Given the description of an element on the screen output the (x, y) to click on. 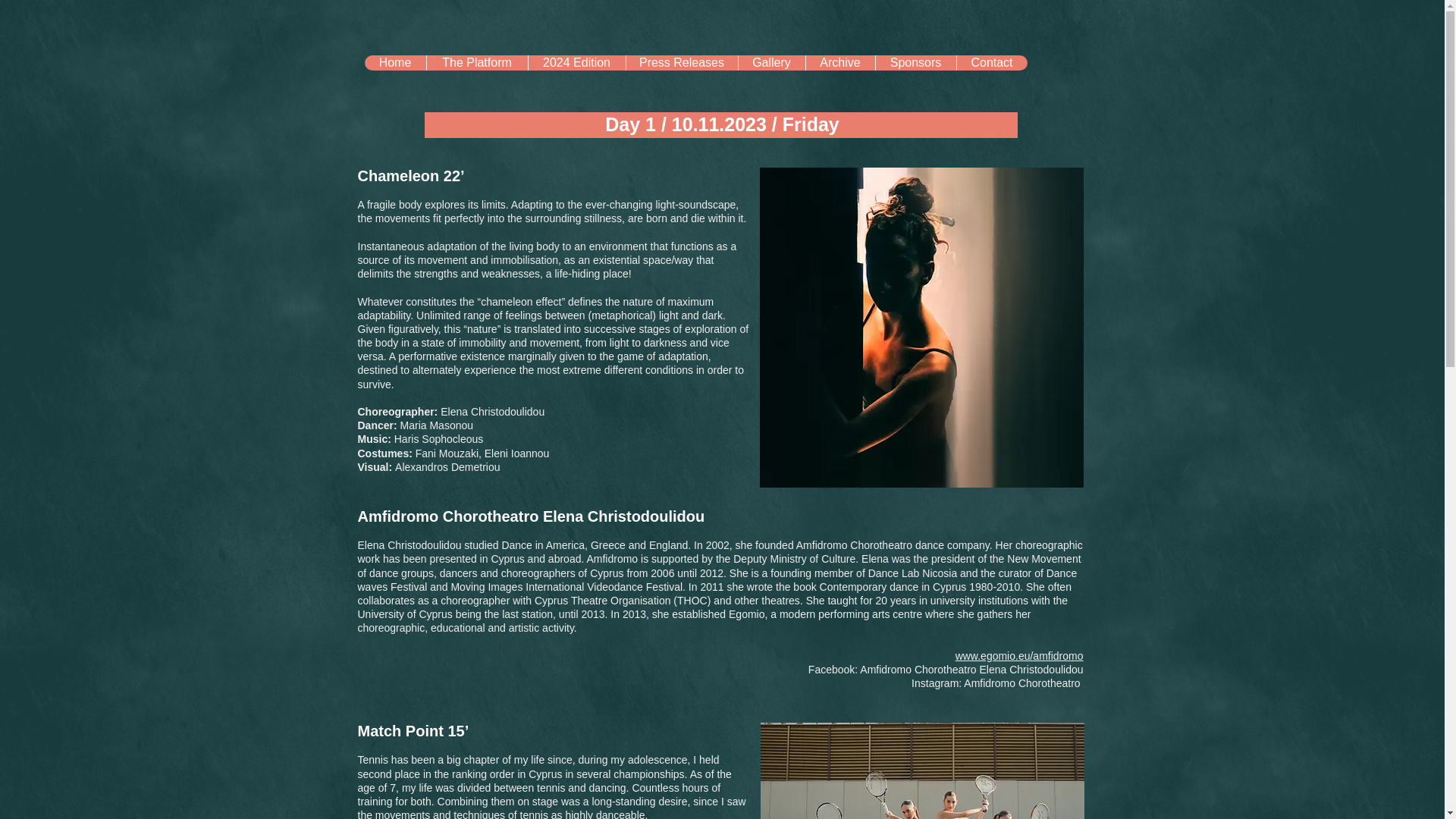
The Platform (476, 62)
Home (394, 62)
Press Releases (680, 62)
